Given the description of an element on the screen output the (x, y) to click on. 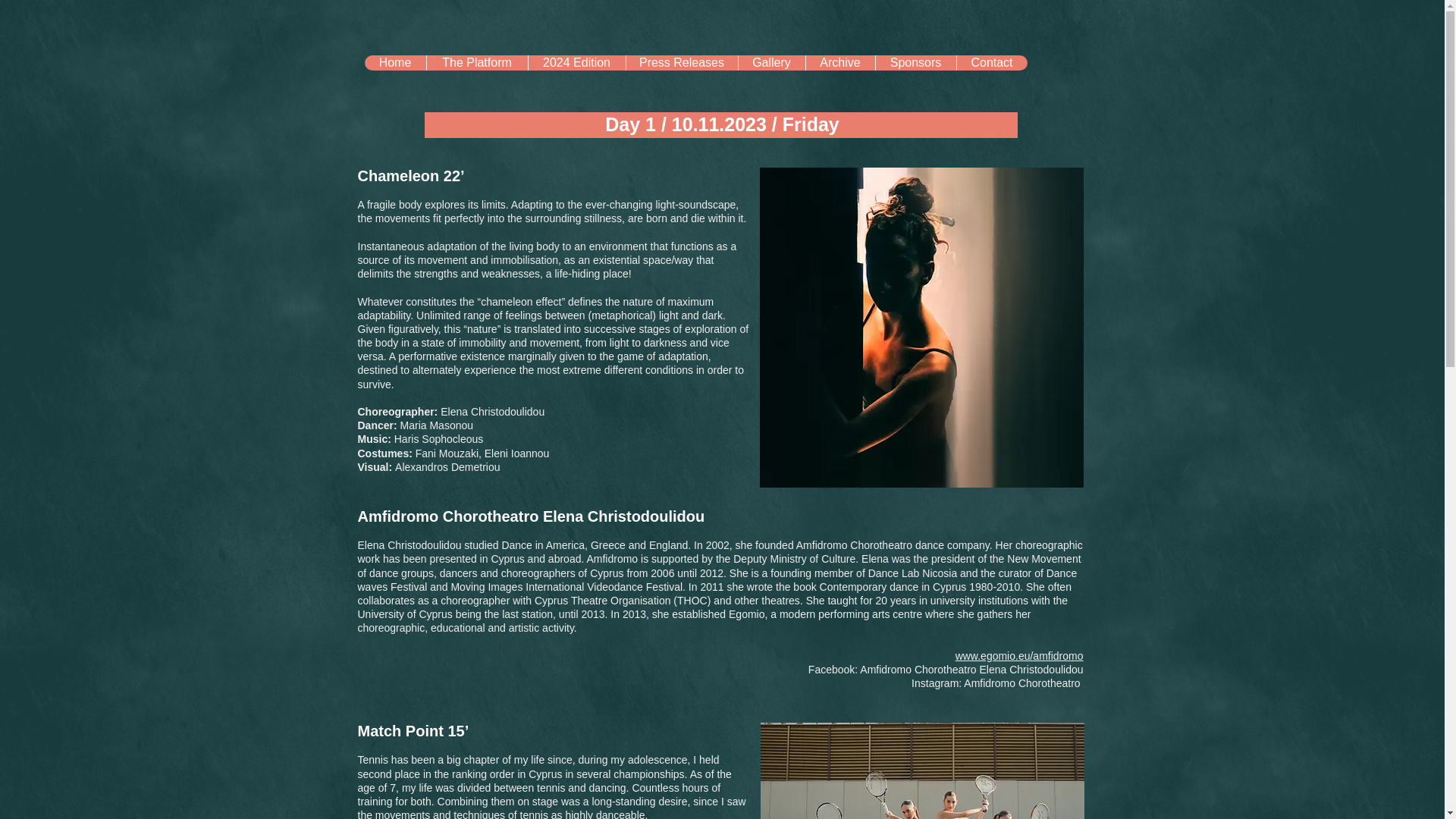
The Platform (476, 62)
Home (394, 62)
Press Releases (680, 62)
